Given the description of an element on the screen output the (x, y) to click on. 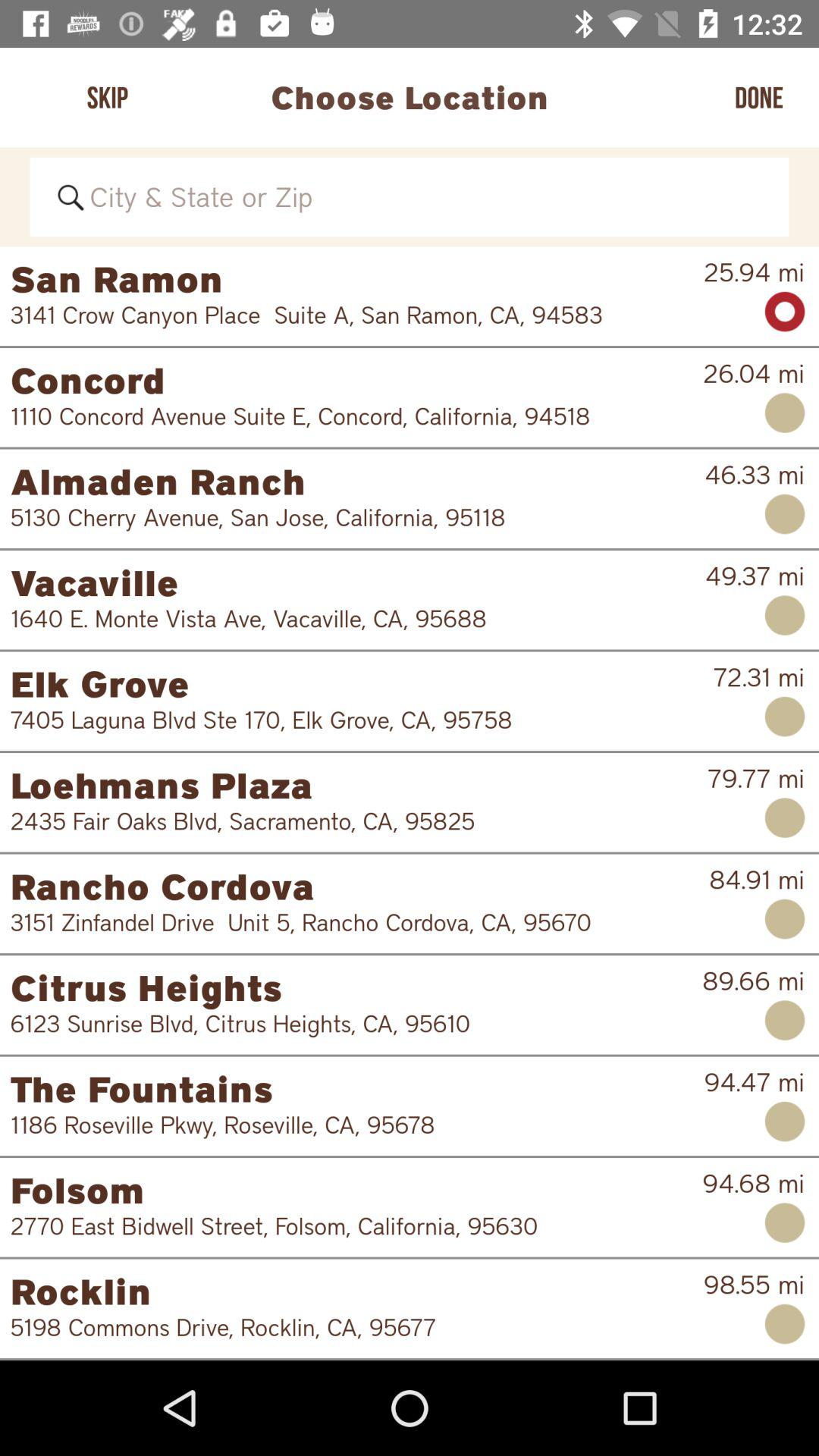
scroll to the 98.55 mi icon (753, 1284)
